Given the description of an element on the screen output the (x, y) to click on. 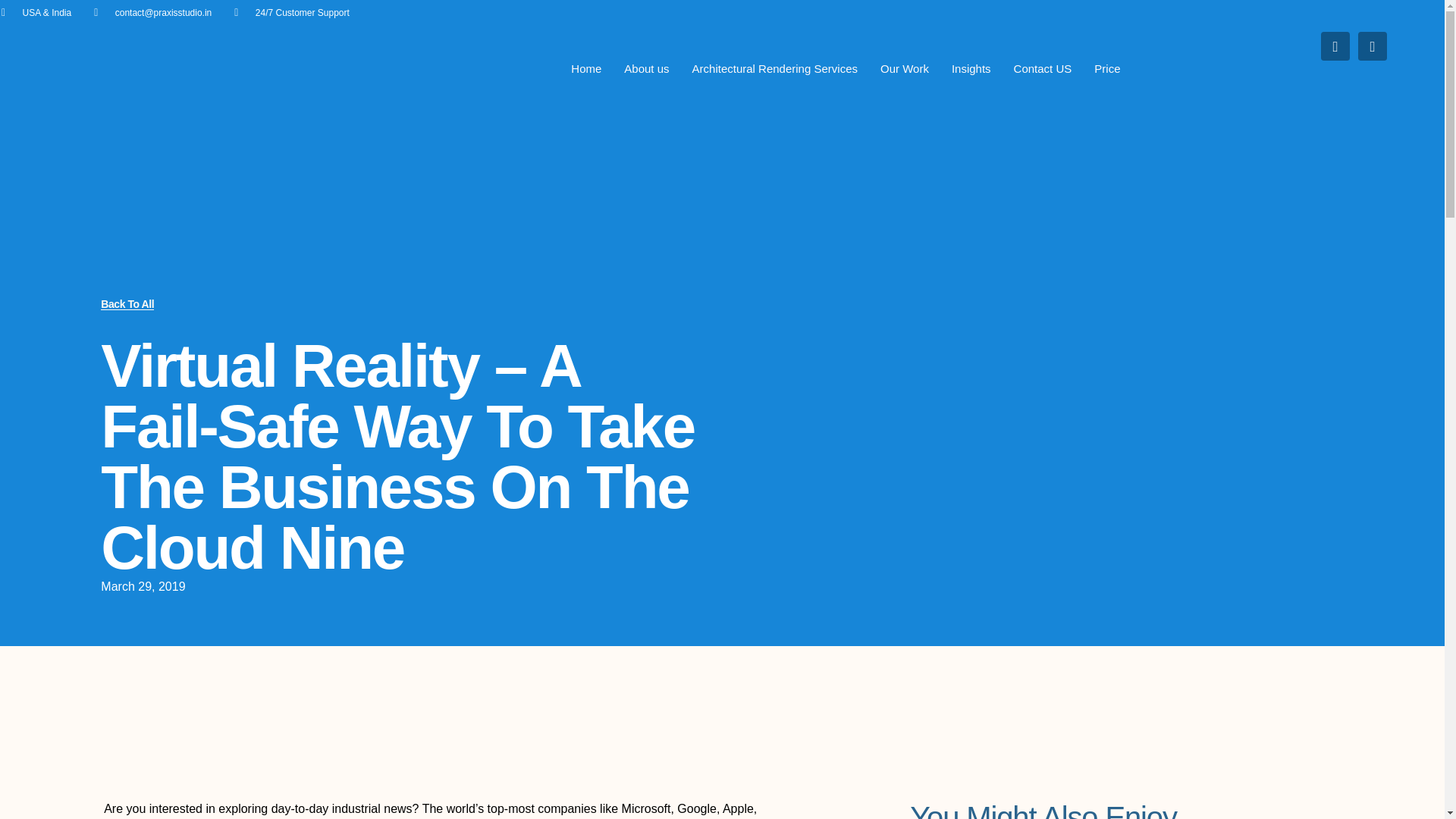
Architectural Rendering Services (775, 68)
Architectural Rendering Services (775, 68)
Our Work (904, 68)
About us (645, 68)
About us (645, 68)
